Given the description of an element on the screen output the (x, y) to click on. 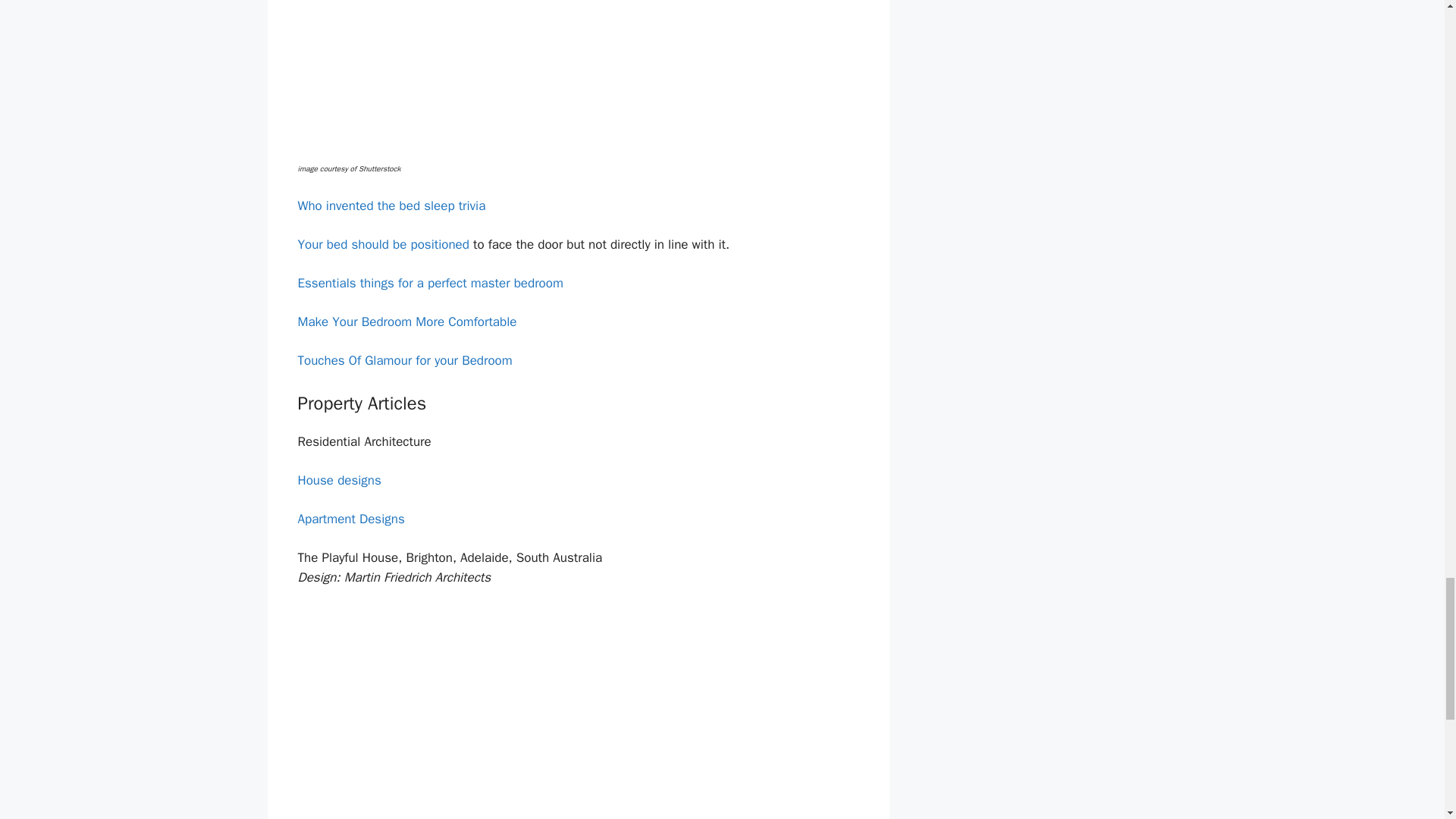
Touches Of Glamour for your Bedroom (404, 360)
Who invented the bed sleep trivia (390, 205)
Make Your Bedroom More Comfortable (406, 321)
Apartment Designs (350, 519)
Your bed should be positioned (382, 244)
House designs (338, 480)
Essentials things for a perfect master bedroom (429, 283)
